Given the description of an element on the screen output the (x, y) to click on. 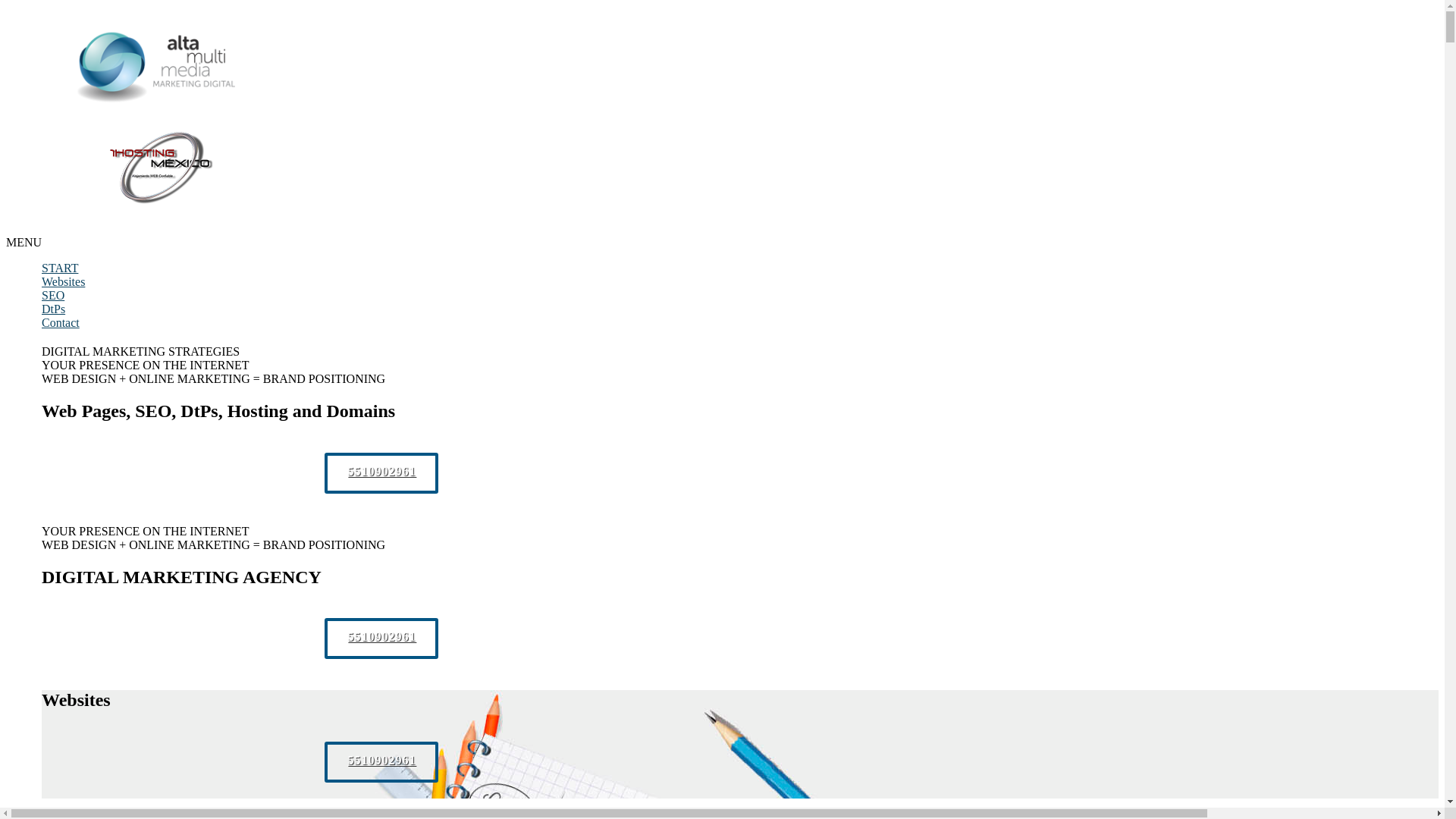
Websites Element type: text (62, 281)
SEO Element type: text (52, 294)
Contact Element type: text (60, 322)
5510902961 Element type: text (381, 638)
DtPs Element type: text (53, 308)
START Element type: text (59, 267)
5510902961 Element type: text (381, 472)
5510902961 Element type: text (381, 761)
